Given the description of an element on the screen output the (x, y) to click on. 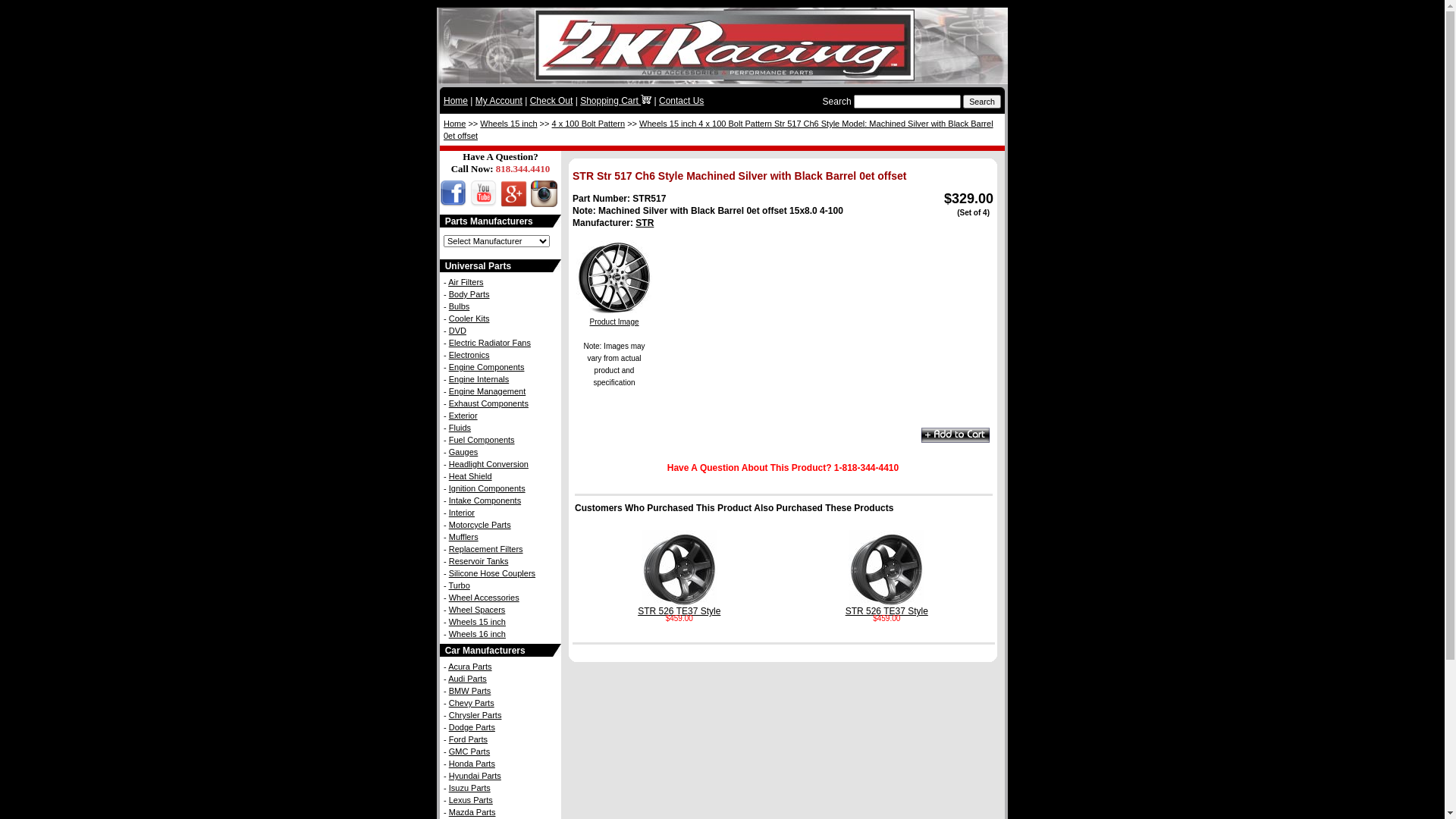
Mufflers Element type: text (463, 536)
Dodge Parts Element type: text (471, 726)
Search Element type: text (982, 101)
Cooler Kits Element type: text (468, 318)
Intake Components Element type: text (484, 500)
Wheels 15 inch Element type: text (508, 123)
Interior Element type: text (461, 512)
Wheel Spacers Element type: text (476, 609)
Motorcycle Parts Element type: text (479, 524)
Electric Radiator Fans Element type: text (489, 342)
DVD Element type: text (457, 330)
Gauges Element type: text (463, 451)
2KRacing Facebook Page - Like Us! Element type: hover (452, 202)
Replacement Filters Element type: text (485, 548)
Wheels 16 inch Element type: text (476, 633)
Ignition Components Element type: text (486, 487)
Heat Shield Element type: text (470, 475)
Chevy Parts Element type: text (471, 702)
Silicone Hose Couplers Element type: text (491, 572)
Check Out Element type: text (551, 100)
Mazda Parts Element type: text (471, 811)
Audi Parts Element type: text (467, 678)
Home Element type: text (455, 100)
GMC Parts Element type: text (468, 751)
Shopping Cart Element type: text (615, 100)
Product Image Element type: text (614, 317)
Wheels 15 inch Element type: text (476, 621)
Isuzu Parts Element type: text (469, 787)
Honda Parts Element type: text (471, 763)
Home Element type: text (454, 123)
2KRacing Youtube Channel Element type: hover (481, 202)
STR 526 TE37 Style Element type: text (886, 607)
Air Filters Element type: text (465, 281)
4 x 100 Bolt Pattern Element type: text (588, 123)
STR Element type: text (644, 222)
Contact Us Element type: text (680, 100)
Wheel Accessories Element type: text (483, 597)
Bulbs Element type: text (459, 305)
Engine Management Element type: text (487, 390)
Body Parts Element type: text (468, 293)
2KRacing Instagram Element type: hover (542, 202)
Turbo Element type: text (459, 584)
Electronics Element type: text (468, 354)
Engine Components Element type: text (486, 366)
My Account Element type: text (498, 100)
BMW Parts Element type: text (469, 690)
Fluids Element type: text (459, 427)
Lexus Parts Element type: text (470, 799)
Exterior Element type: text (462, 415)
Headlight Conversion Element type: text (488, 463)
2KRacing Google Plus Element type: hover (511, 202)
Exhaust Components Element type: text (488, 402)
Engine Internals Element type: text (478, 378)
Hyundai Parts Element type: text (474, 775)
Chrysler Parts Element type: text (475, 714)
STR 526 TE37 Style Element type: text (678, 607)
Acura Parts Element type: text (469, 666)
Fuel Components Element type: text (481, 439)
Reservoir Tanks Element type: text (478, 560)
Ford Parts Element type: text (467, 738)
